Given the description of an element on the screen output the (x, y) to click on. 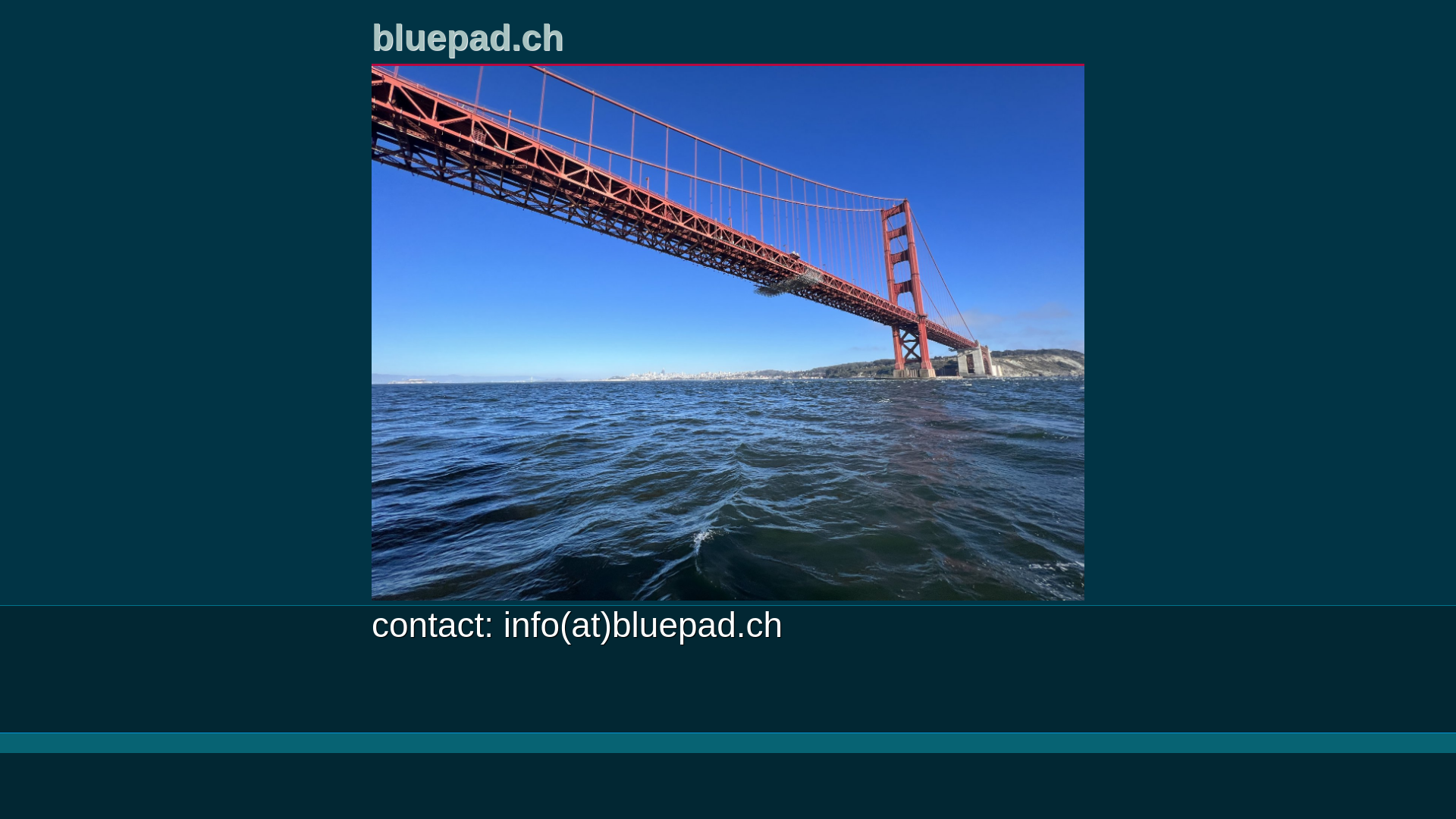
bluepad.ch Element type: text (477, 39)
